Given the description of an element on the screen output the (x, y) to click on. 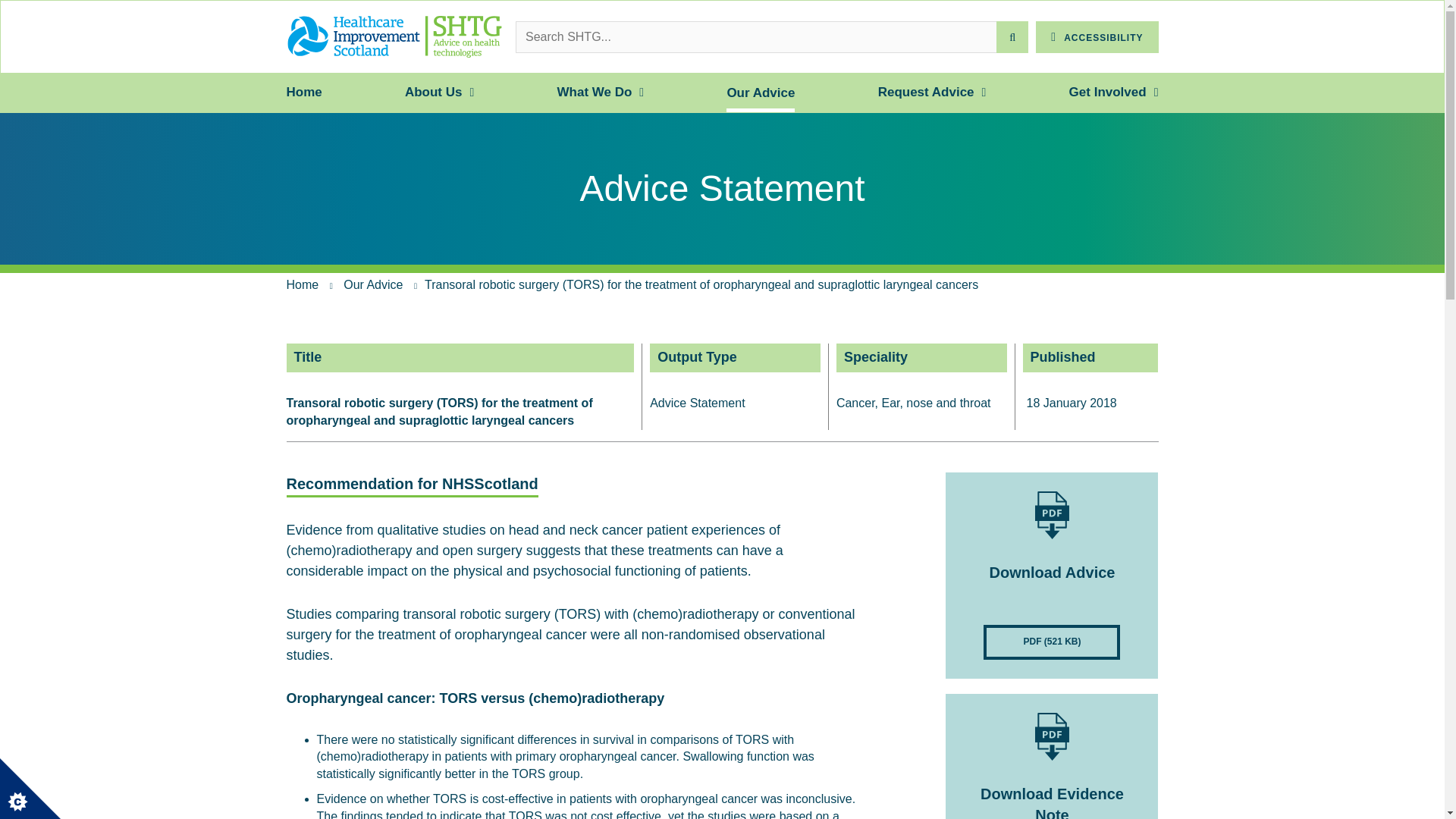
Request Advice (925, 92)
ACCESSIBILITY (1096, 37)
Cookie Control Icon (30, 788)
Search (1011, 37)
Our Advice (760, 92)
Get Involved (1107, 92)
Home (303, 92)
About Us (433, 92)
What We Do (593, 92)
